Given the description of an element on the screen output the (x, y) to click on. 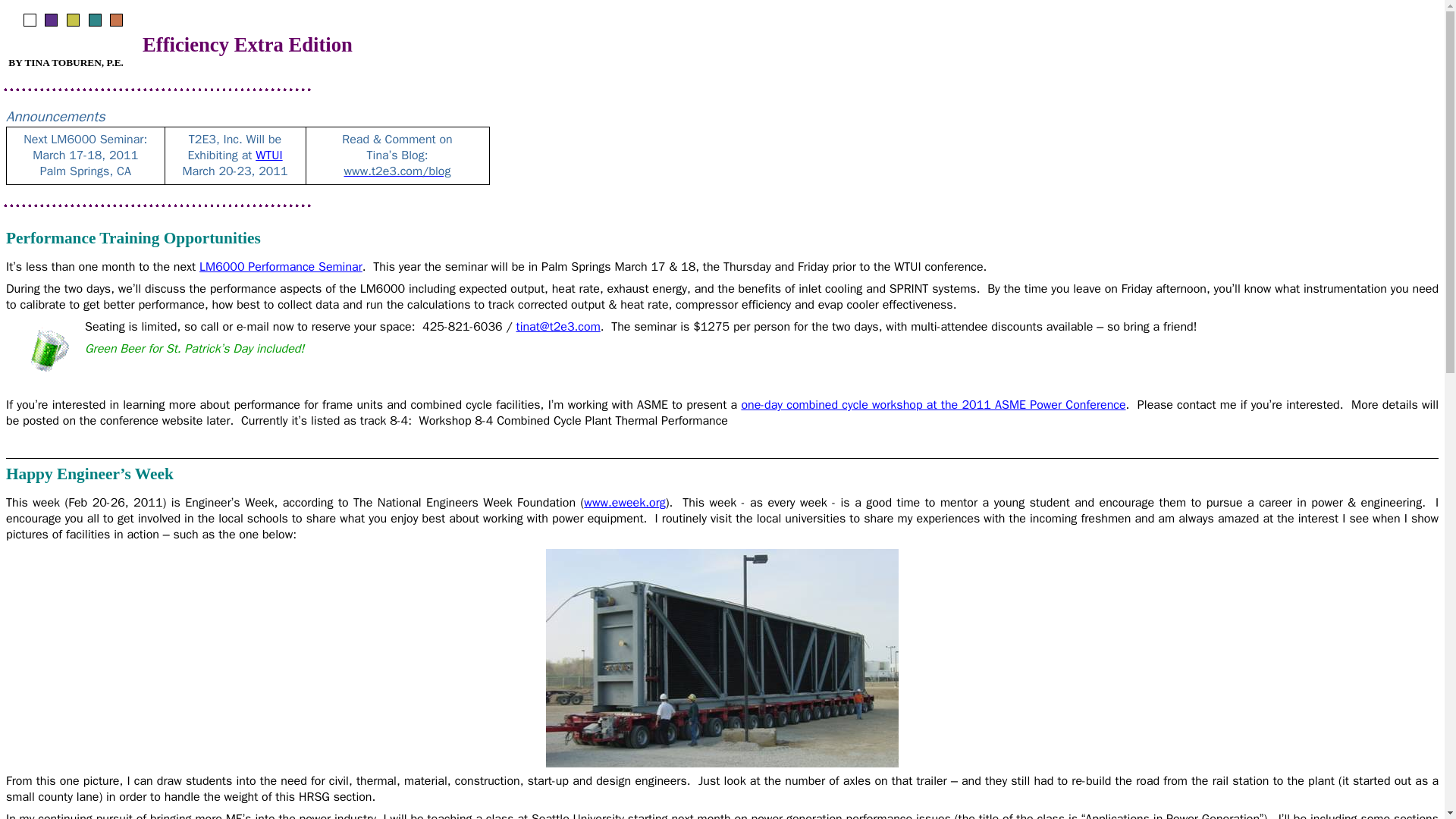
LM6000 Performance Seminar (280, 266)
WTUI (269, 155)
www.eweek.org (624, 502)
